Given the description of an element on the screen output the (x, y) to click on. 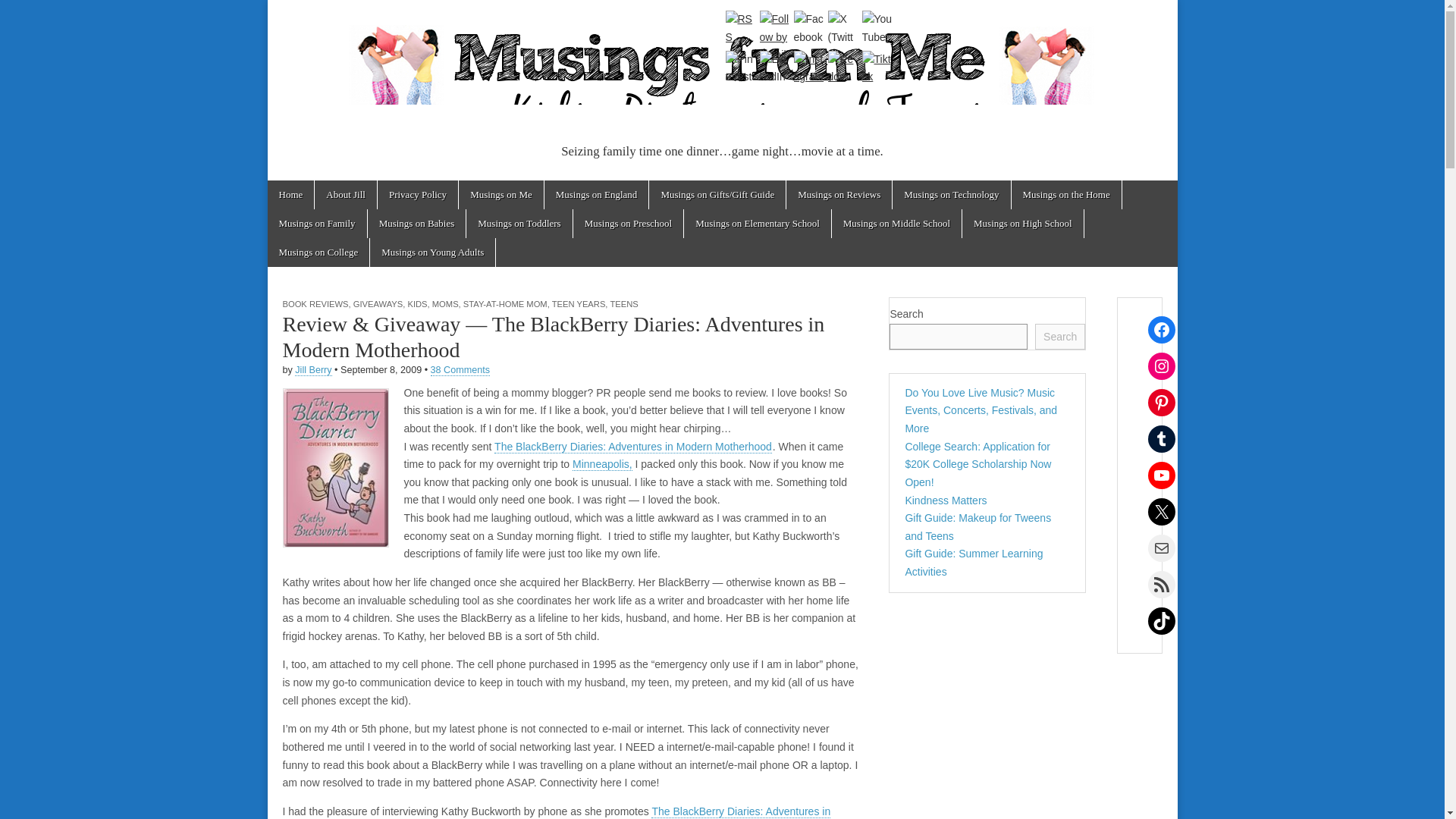
38 Comments (459, 369)
Musings on Young Adults (432, 252)
KIDS (416, 303)
Musings on Reviews (838, 194)
Minneapolis, (601, 463)
Musings on Preschool (628, 223)
About Jill (345, 194)
Musings on Technology (951, 194)
Privacy Policy (417, 194)
